Given the description of an element on the screen output the (x, y) to click on. 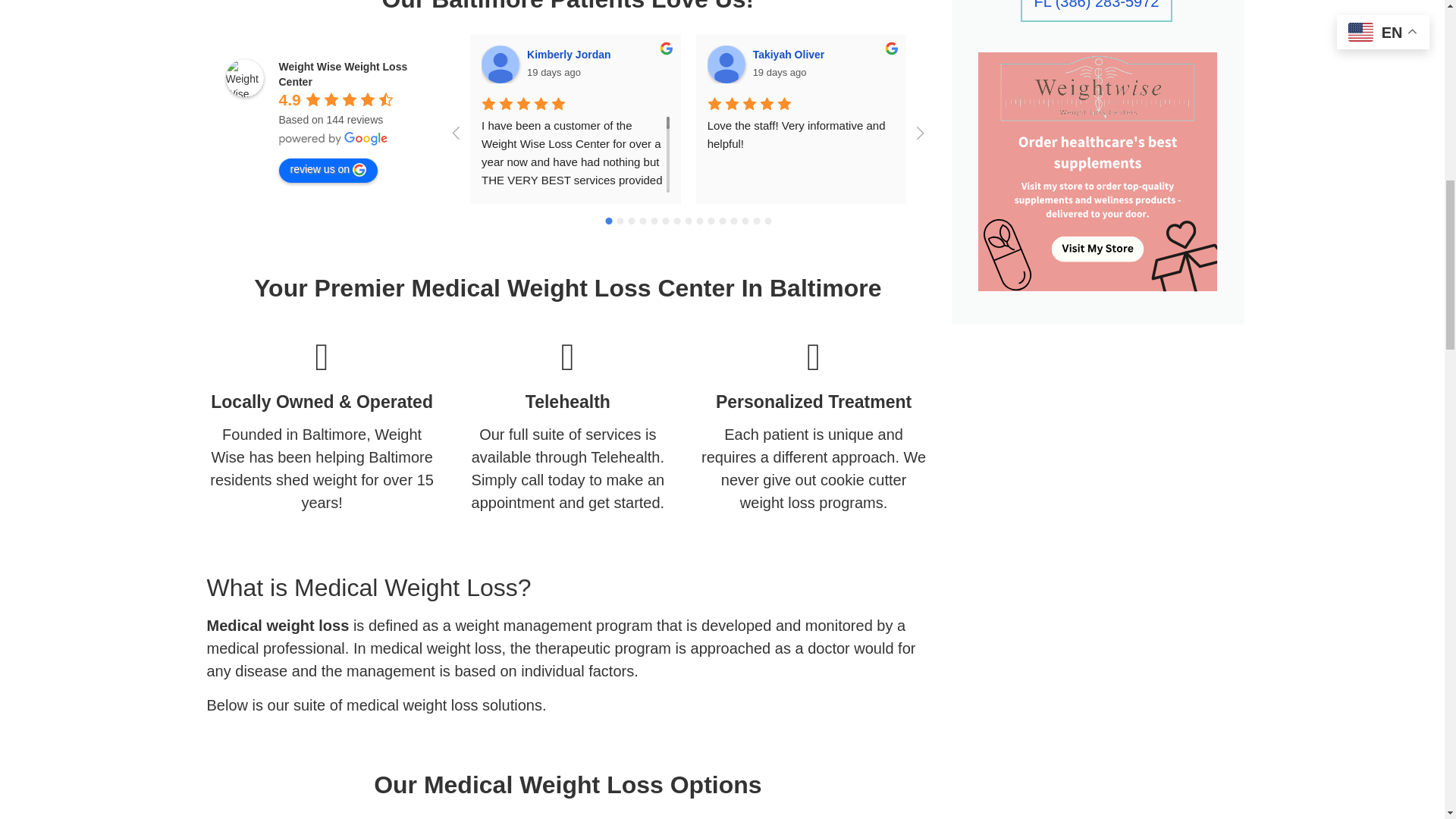
Saher Riaz (1403, 64)
powered by Google (333, 138)
Weight Wise Weight Loss Center (244, 77)
Tenisha Kearney (1177, 64)
Mary Joyner (952, 64)
Kimberly Jordan (500, 64)
Takiyah Oliver (726, 64)
